Given the description of an element on the screen output the (x, y) to click on. 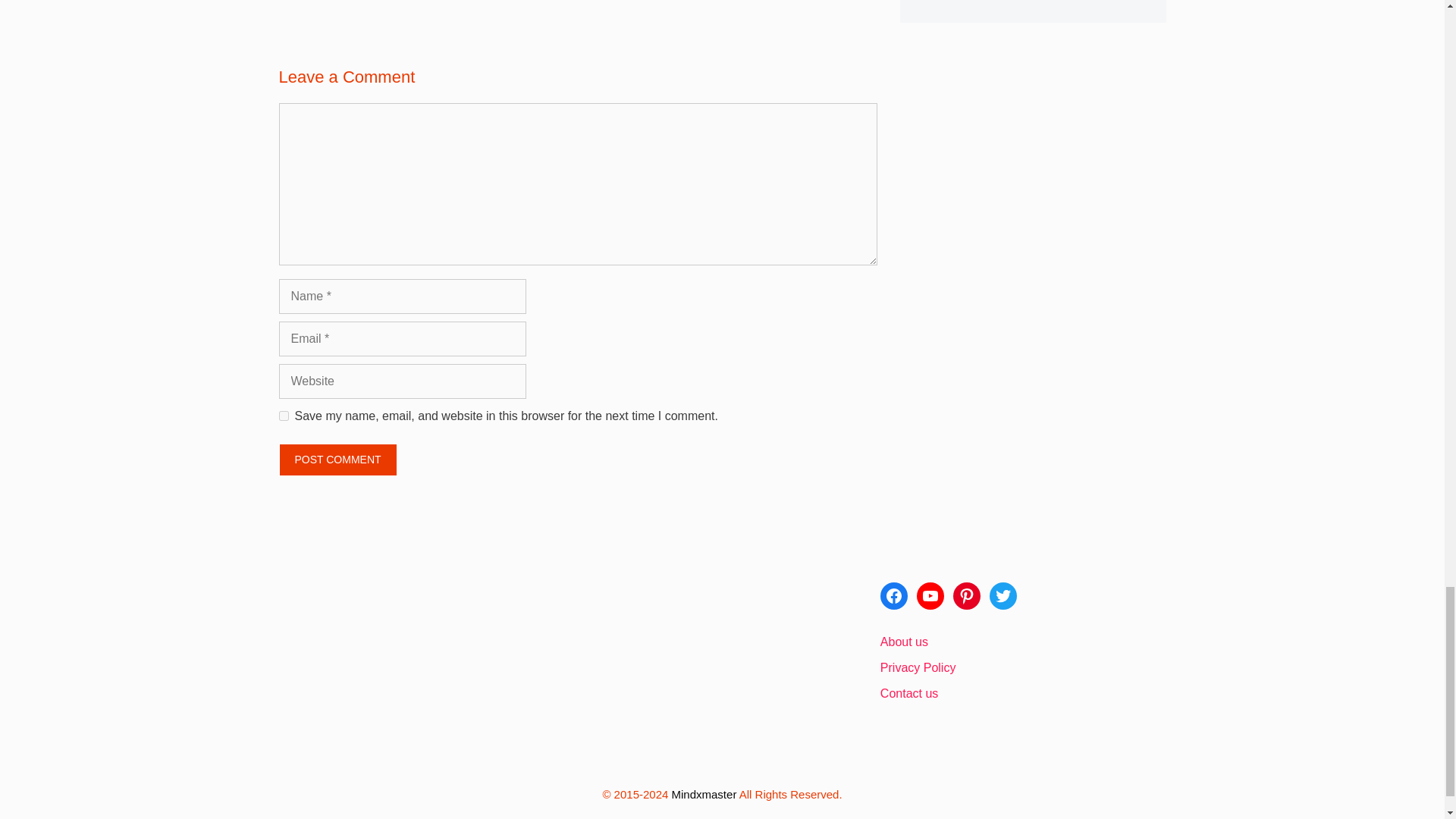
Post Comment (338, 459)
yes (283, 415)
Privacy Policy (918, 667)
Mindxmaster (703, 793)
Post Comment (338, 459)
Contact us (908, 693)
Twitter (1003, 595)
YouTube (930, 595)
Pinterest (966, 595)
About us (904, 641)
